Given the description of an element on the screen output the (x, y) to click on. 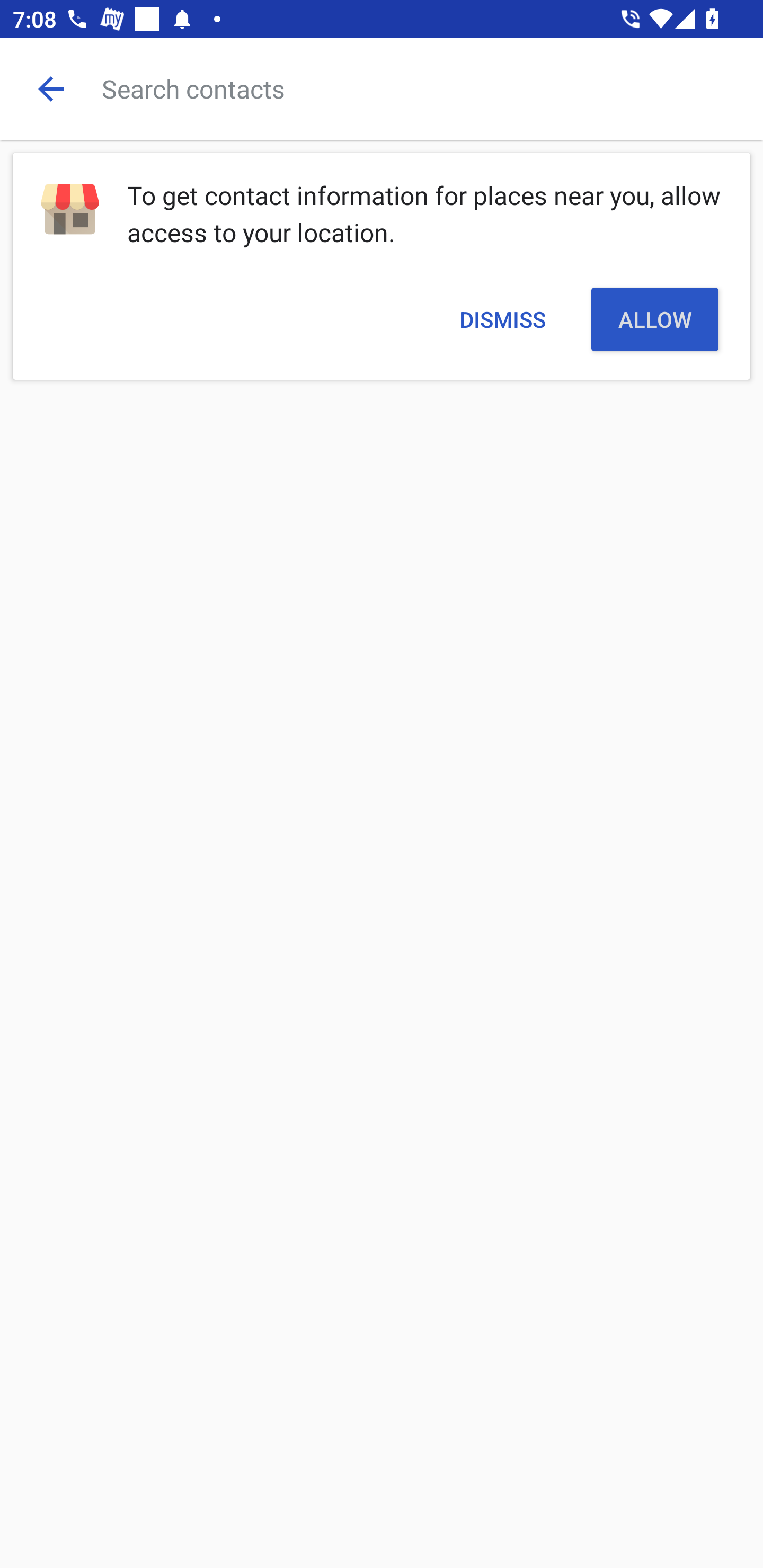
stop searching (50, 88)
Search contacts (432, 88)
DISMISS (502, 318)
ALLOW (654, 318)
